Given the description of an element on the screen output the (x, y) to click on. 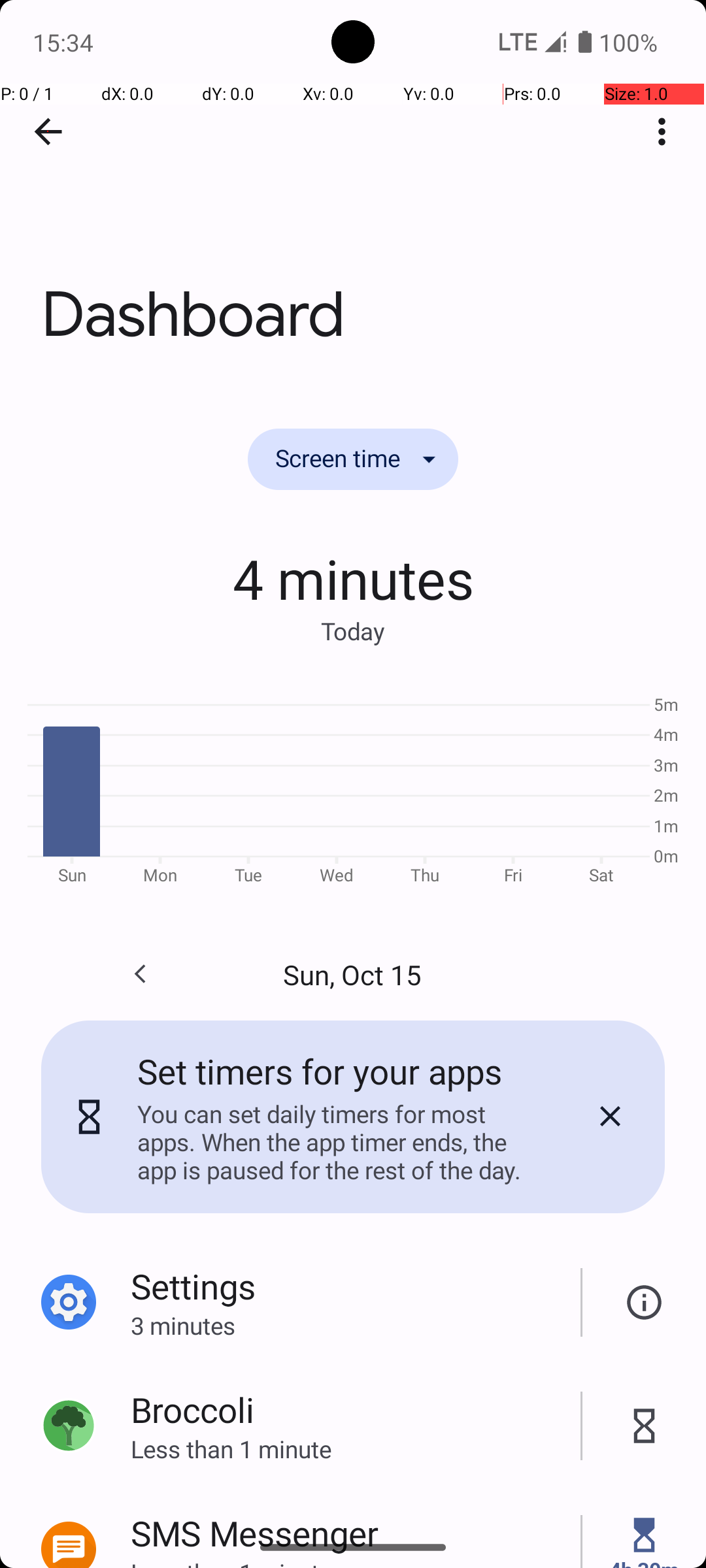
Dashboard Element type: android.widget.FrameLayout (353, 195)
4 minutes Element type: android.widget.TextView (353, 577)
Go to the previous day Element type: android.widget.Button (139, 973)
Set timers for your apps Element type: android.widget.TextView (319, 1070)
You can set daily timers for most apps. When the app timer ends, the app is paused for the rest of the day. Element type: android.widget.TextView (339, 1141)
Dismiss card Element type: android.widget.Button (609, 1116)
3 minutes Element type: android.widget.TextView (355, 1325)
Can't set timer Element type: android.widget.FrameLayout (644, 1302)
Less than 1 minute Element type: android.widget.TextView (355, 1448)
No timer set for Broccoli Element type: android.widget.FrameLayout (644, 1425)
4 hr, 30 min set for SMS Messenger Element type: android.widget.FrameLayout (644, 1534)
4h 30m Element type: android.widget.TextView (643, 1561)
